Given the description of an element on the screen output the (x, y) to click on. 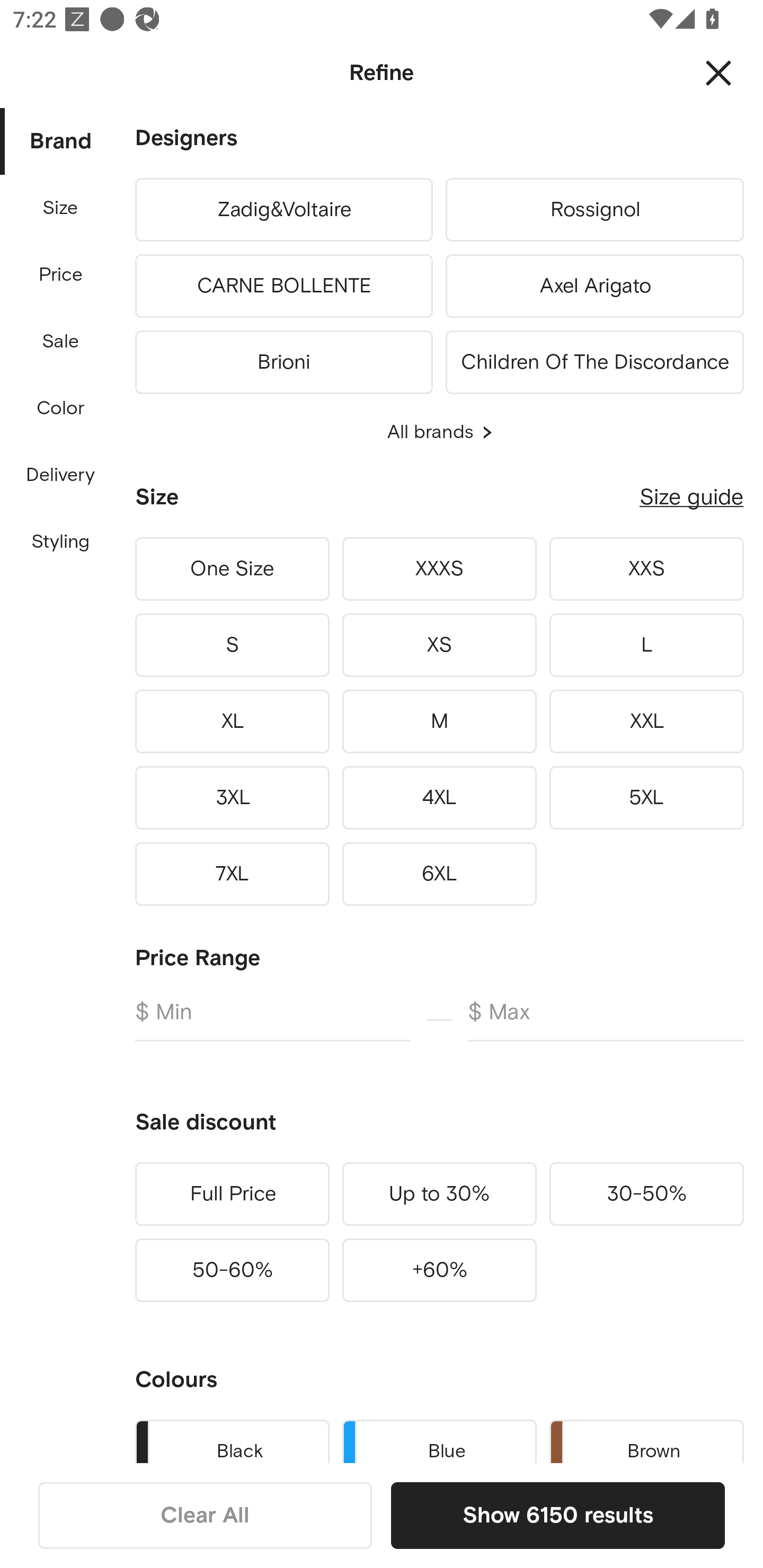
Brand (60, 141)
Size (60, 208)
Zadig&Voltaire (283, 208)
Rossignol (594, 208)
Price (60, 274)
CARNE BOLLENTE (283, 285)
Axel Arigato (594, 285)
Sale (60, 342)
Brioni (283, 358)
Children Of The Discordance (594, 358)
Color (60, 408)
All brands (439, 431)
Delivery (60, 475)
Size guide (691, 496)
Styling (60, 542)
One Size (232, 568)
XXXS (439, 568)
XXS (646, 568)
S (232, 644)
XS (439, 644)
L (646, 644)
XL (232, 720)
M (439, 720)
XXL (646, 720)
3XL (232, 796)
4XL (439, 796)
5XL (646, 796)
7XL (232, 873)
6XL (439, 873)
$ Min (272, 1019)
$ Max (605, 1019)
Full Price (232, 1193)
Up to 30% (439, 1193)
30-50% (646, 1193)
50-60% (232, 1269)
+60% (439, 1269)
Black (232, 1437)
Blue (439, 1437)
Brown (646, 1437)
Clear All (205, 1515)
Show 6150 results (557, 1515)
